Given the description of an element on the screen output the (x, y) to click on. 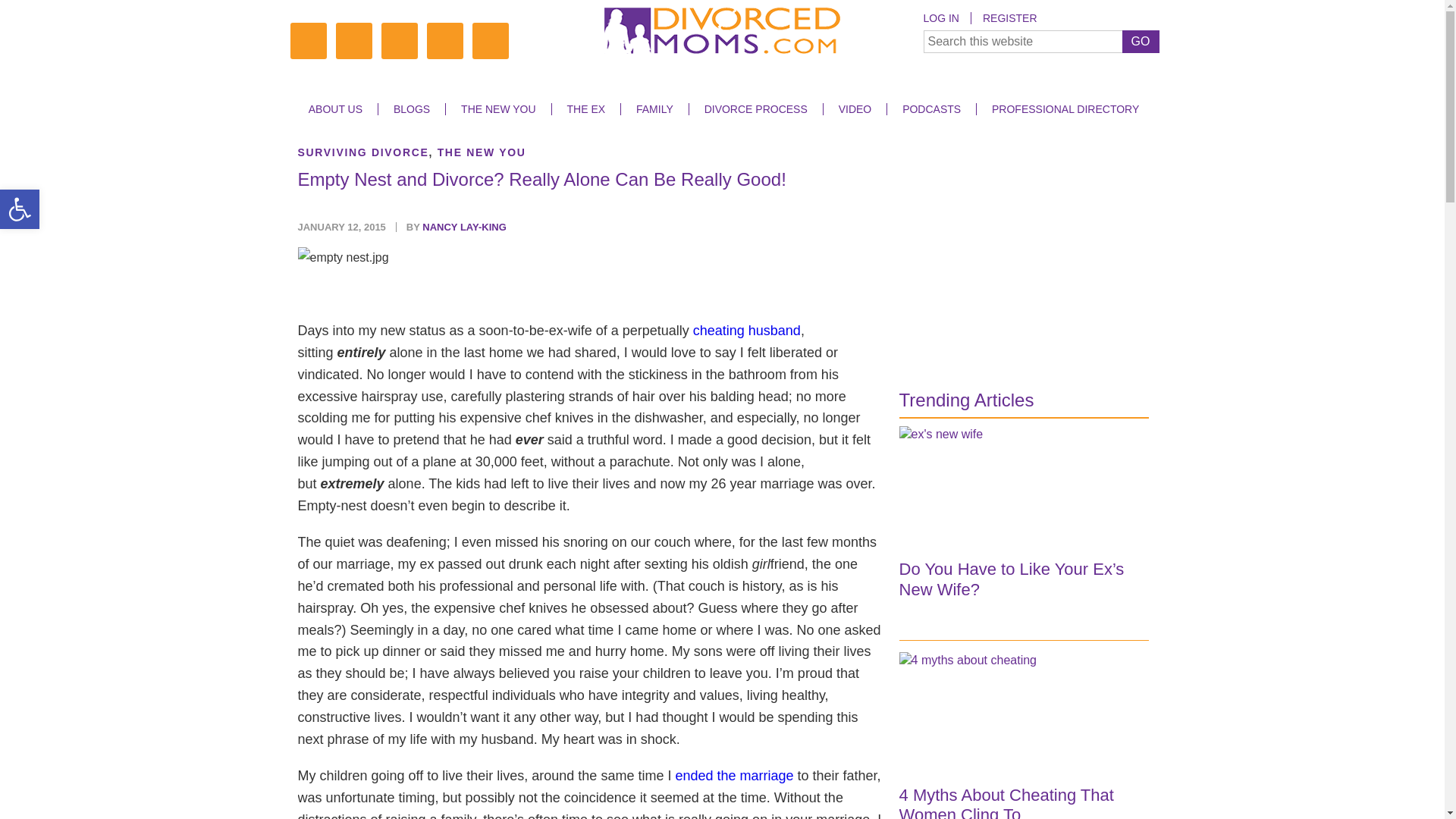
LOG IN (947, 18)
BLOGS (411, 109)
ABOUT US (335, 109)
FAMILY (654, 109)
GO (1140, 41)
GO (1140, 41)
REGISTER (1009, 18)
GO (1140, 41)
Accessibility Tools (19, 209)
Search Website (1040, 41)
